Given the description of an element on the screen output the (x, y) to click on. 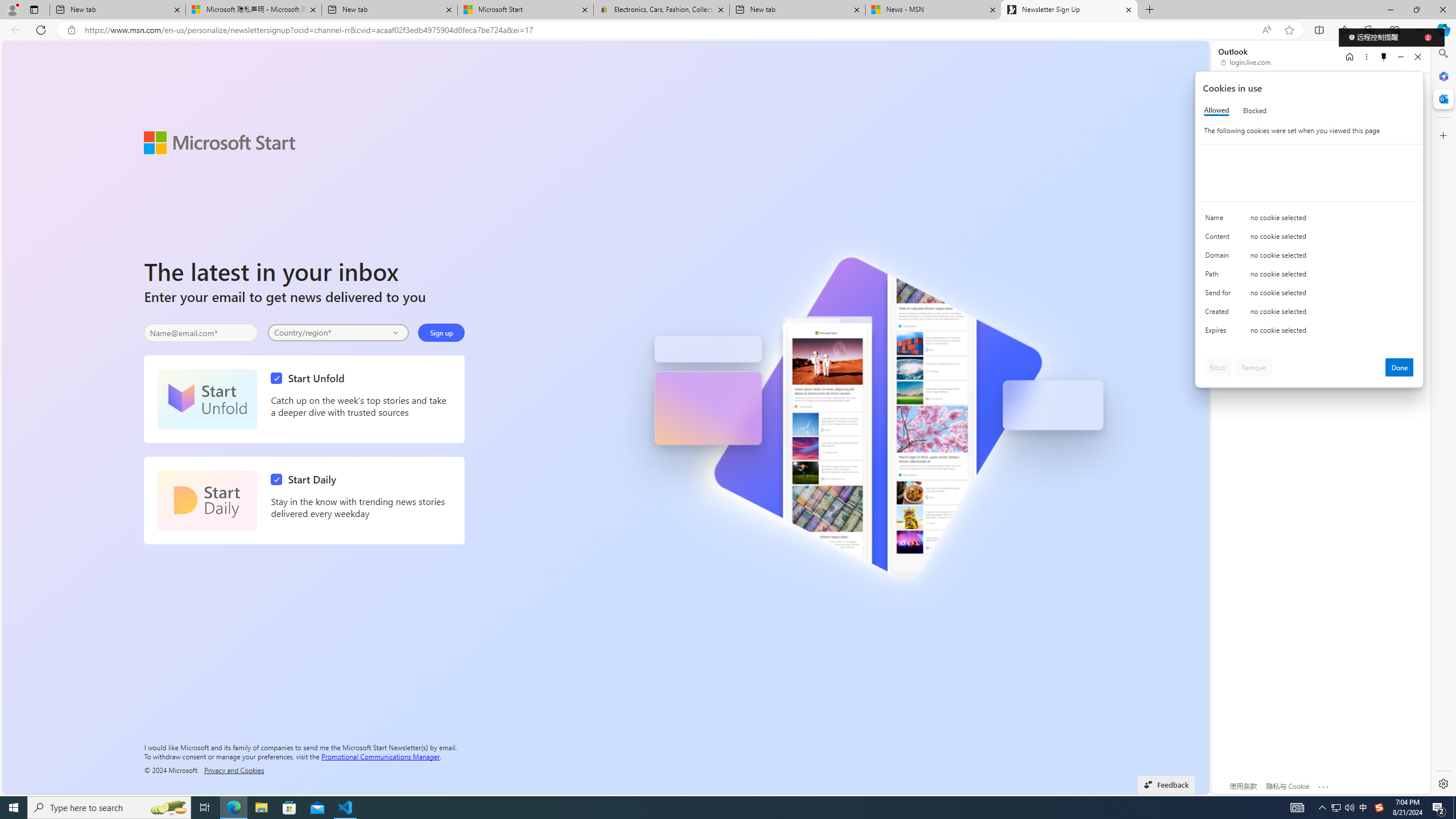
Path (1219, 276)
Electronics, Cars, Fashion, Collectibles & More | eBay (660, 9)
Remove (1253, 367)
Allowed (1216, 110)
Class: c0153 c0157 c0154 (1309, 220)
Sign up (441, 332)
Block (1217, 367)
Blocked (1255, 110)
